Given the description of an element on the screen output the (x, y) to click on. 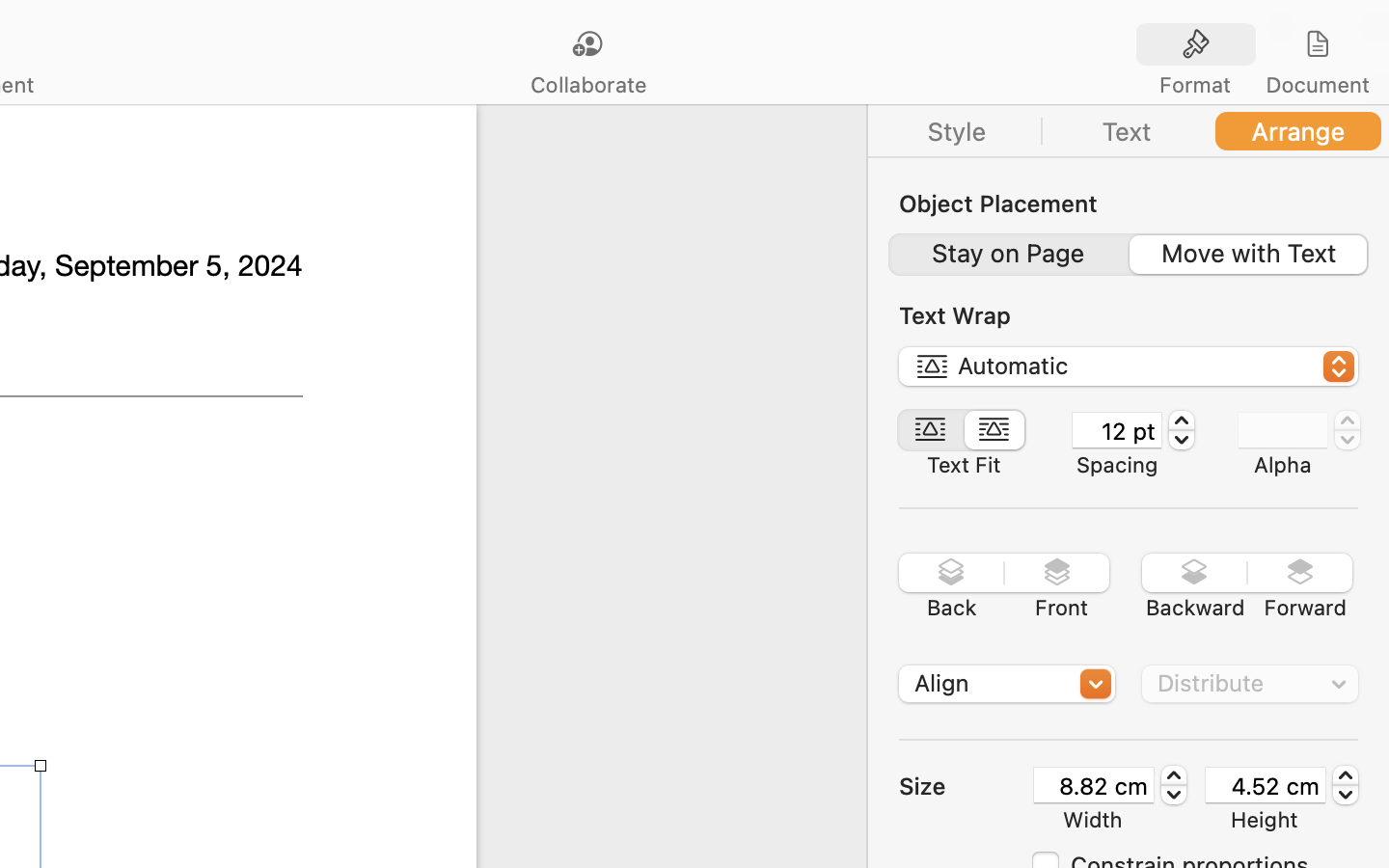
Height Element type: AXStaticText (1264, 819)
